Given the description of an element on the screen output the (x, y) to click on. 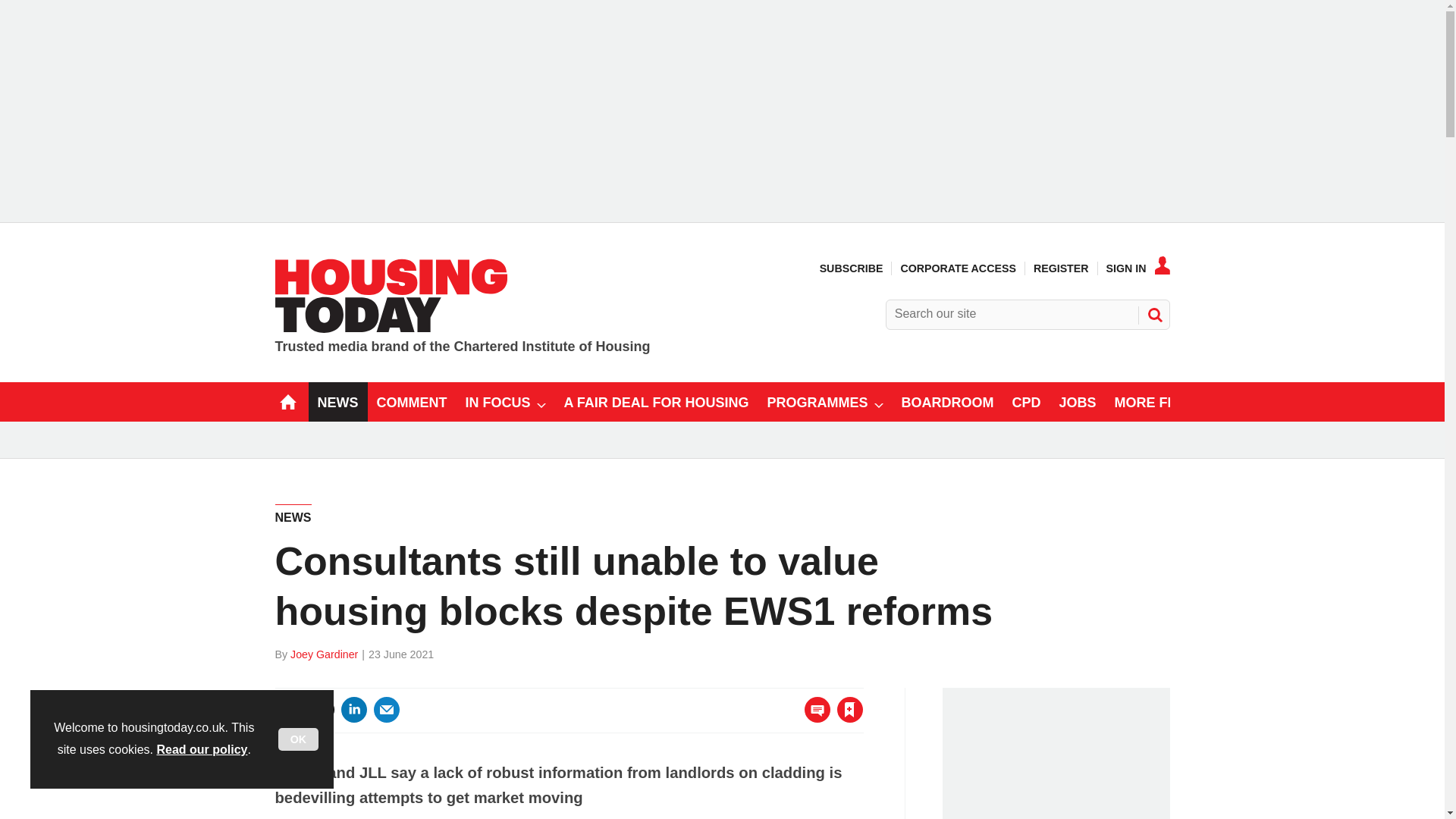
Insert Logo text (391, 328)
REGISTER (1061, 268)
SUBSCRIBE (851, 268)
Read our policy (201, 748)
Email this article (386, 709)
Share this on Twitter (320, 709)
Share this on Facebook (288, 709)
SEARCH (1153, 314)
SIGN IN (1138, 268)
No comments (812, 718)
Share this on Linked in (352, 709)
OK (298, 739)
3rd party ad content (1059, 758)
CORPORATE ACCESS (956, 268)
